Given the description of an element on the screen output the (x, y) to click on. 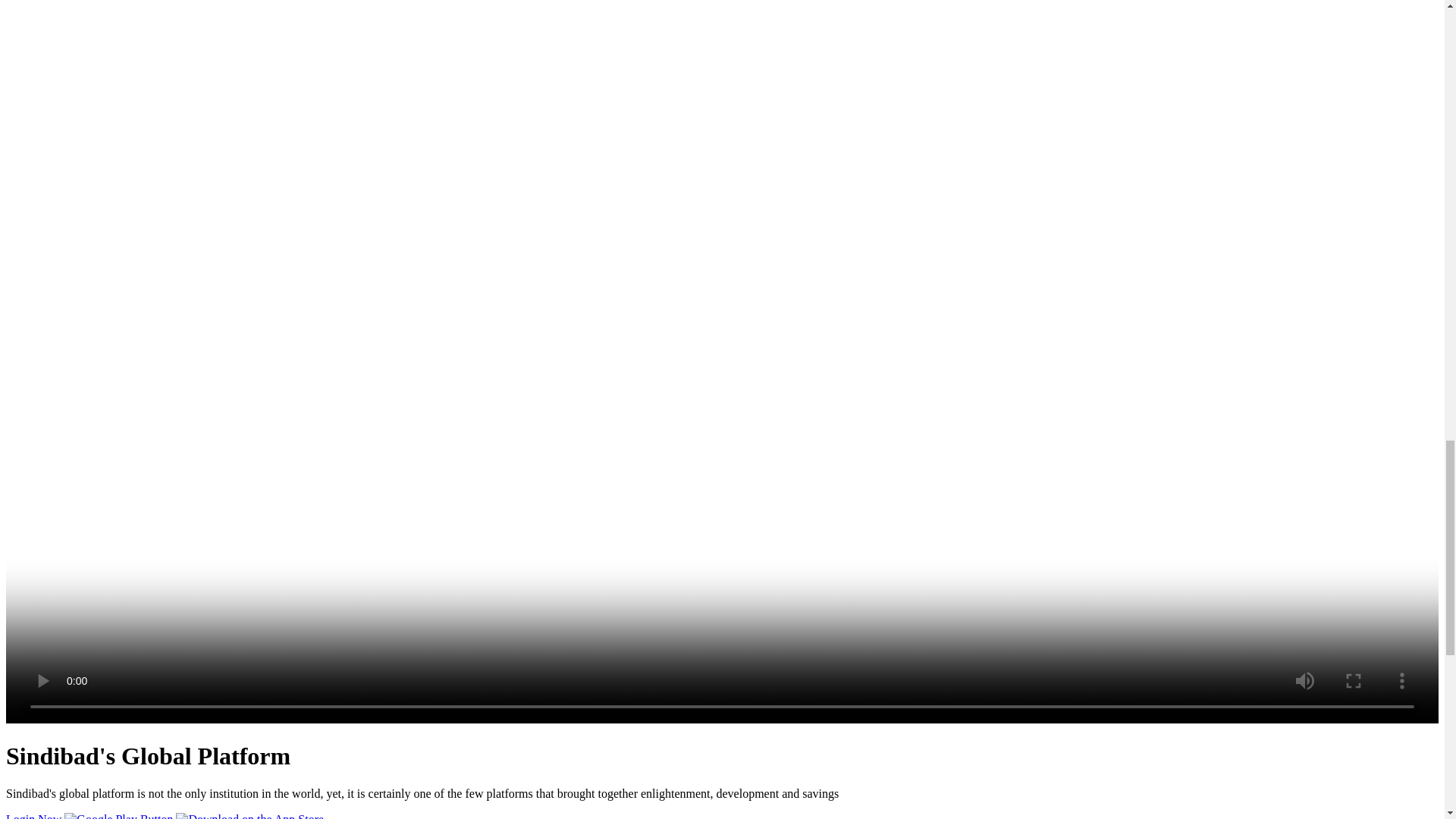
Login Now (34, 816)
